Given the description of an element on the screen output the (x, y) to click on. 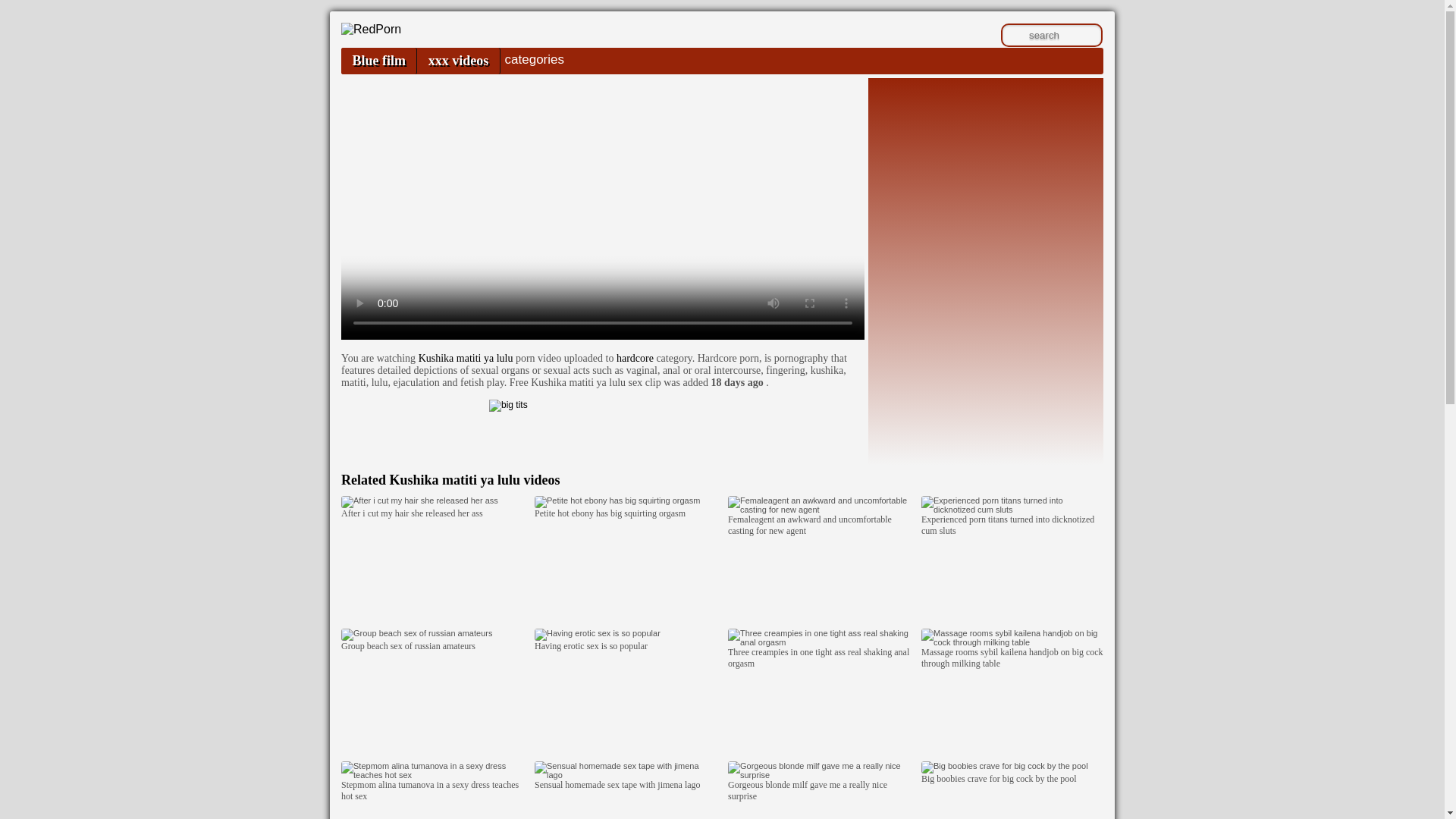
Kushika matiti ya lulu (466, 357)
xxx videos (457, 60)
categories (533, 59)
hardcore (634, 357)
xxx videos (457, 60)
Kushika matiti ya lulu videos (473, 479)
Blue film (378, 60)
Blue film (378, 60)
Indian Porn (370, 29)
